Given the description of an element on the screen output the (x, y) to click on. 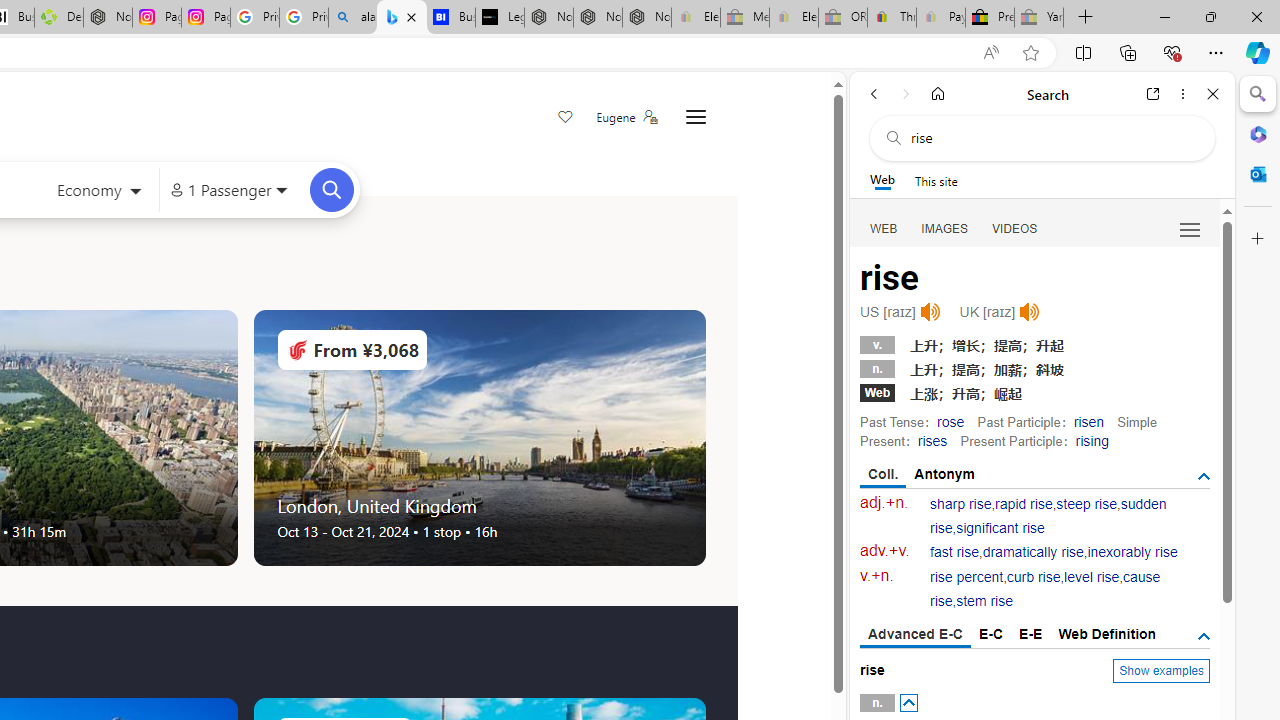
Antonym (945, 473)
rises (932, 440)
Coll. (883, 475)
level rise (1091, 577)
risen (1088, 421)
cause rise (1045, 589)
